Given the description of an element on the screen output the (x, y) to click on. 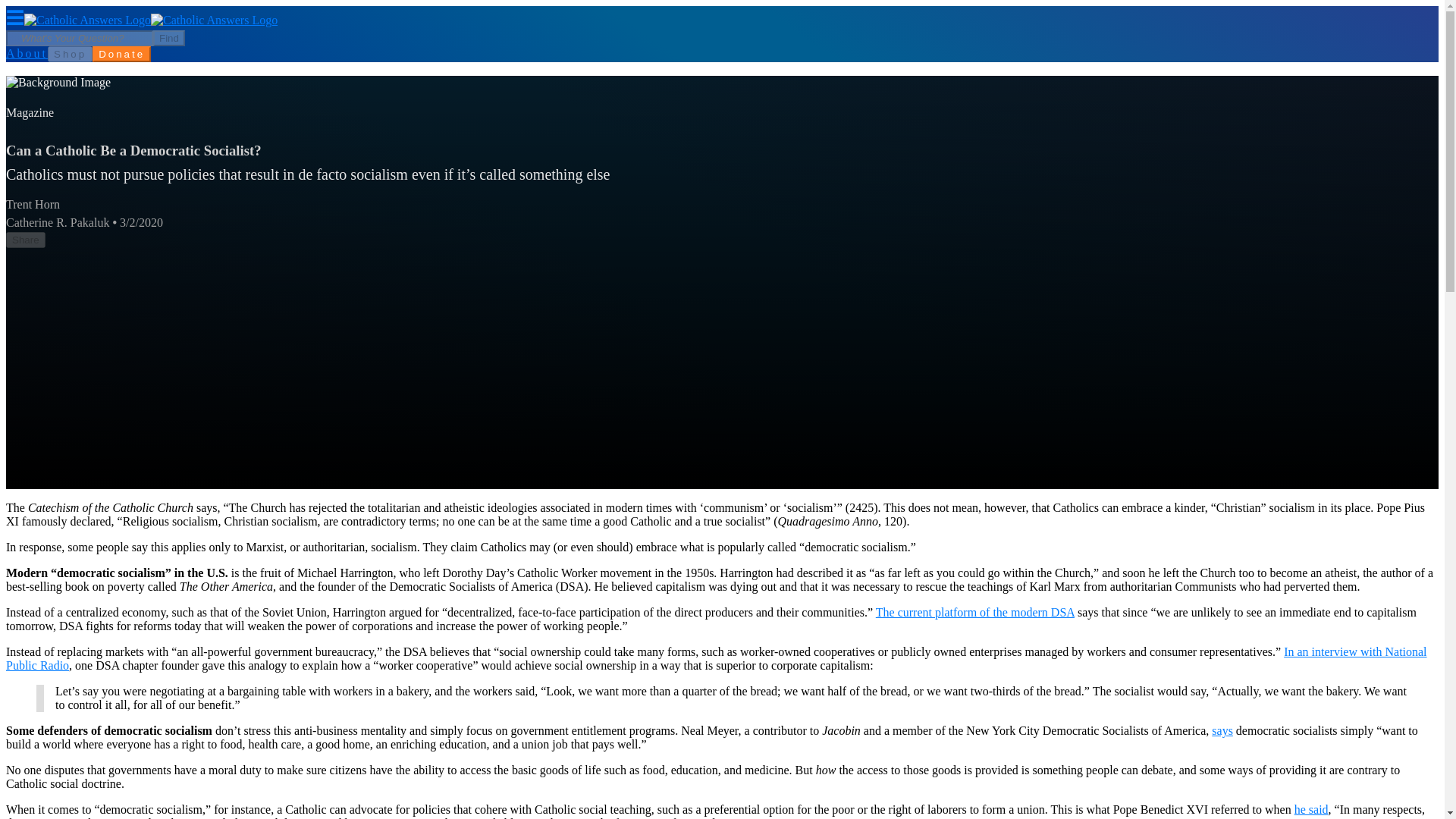
Donate (122, 53)
Shop (70, 52)
Shop (70, 53)
Find (168, 37)
About (26, 52)
